Given the description of an element on the screen output the (x, y) to click on. 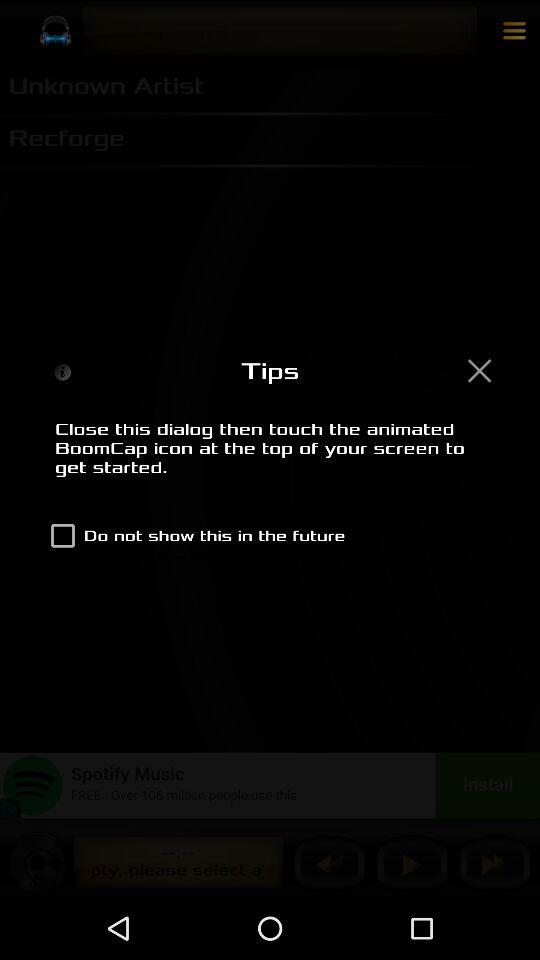
turn off item next to the tips item (479, 370)
